Given the description of an element on the screen output the (x, y) to click on. 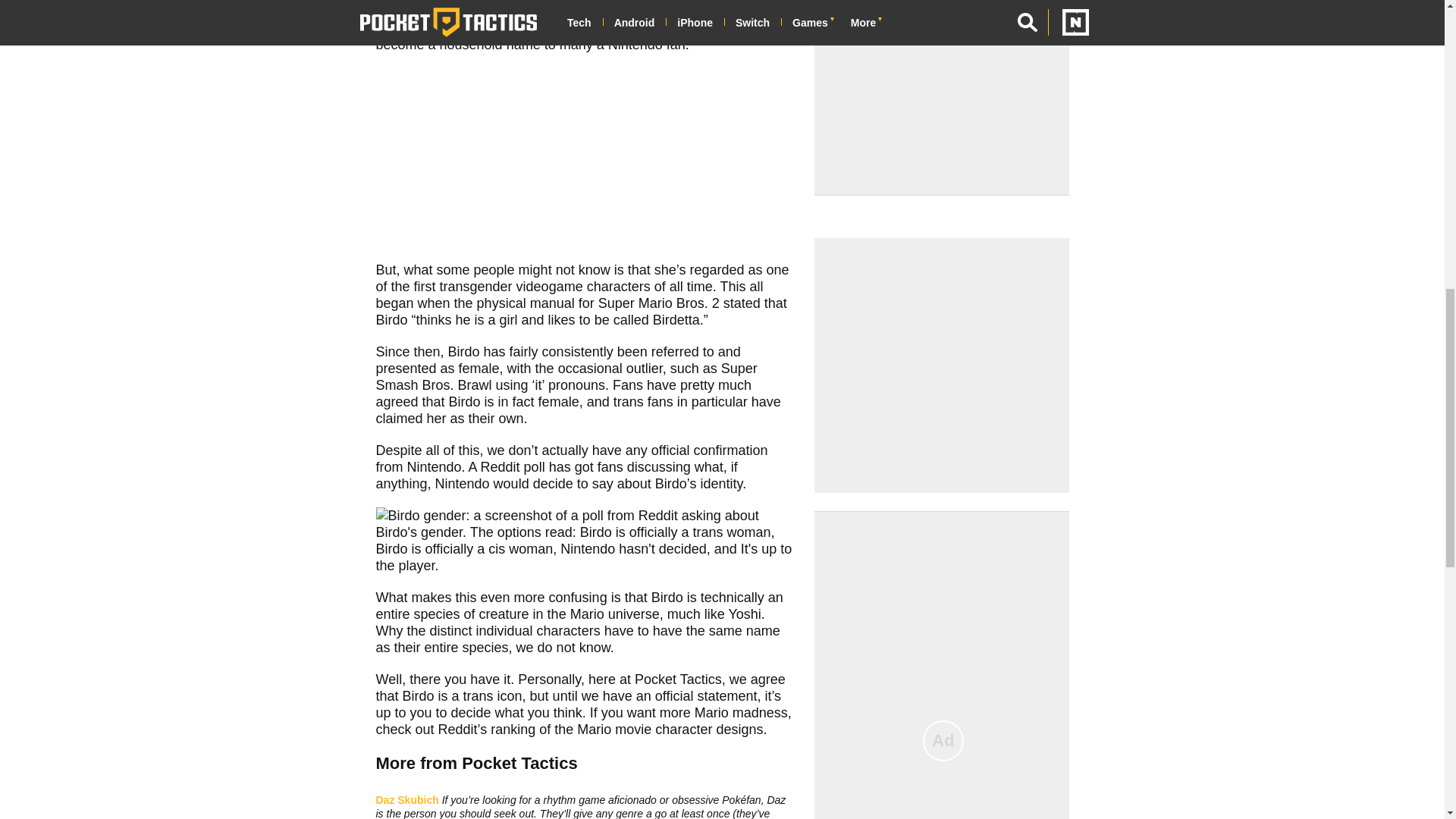
Daz Skubich (407, 799)
Reddit poll (512, 467)
Mario movie character designs (669, 729)
birdo gender poll (584, 540)
